Given the description of an element on the screen output the (x, y) to click on. 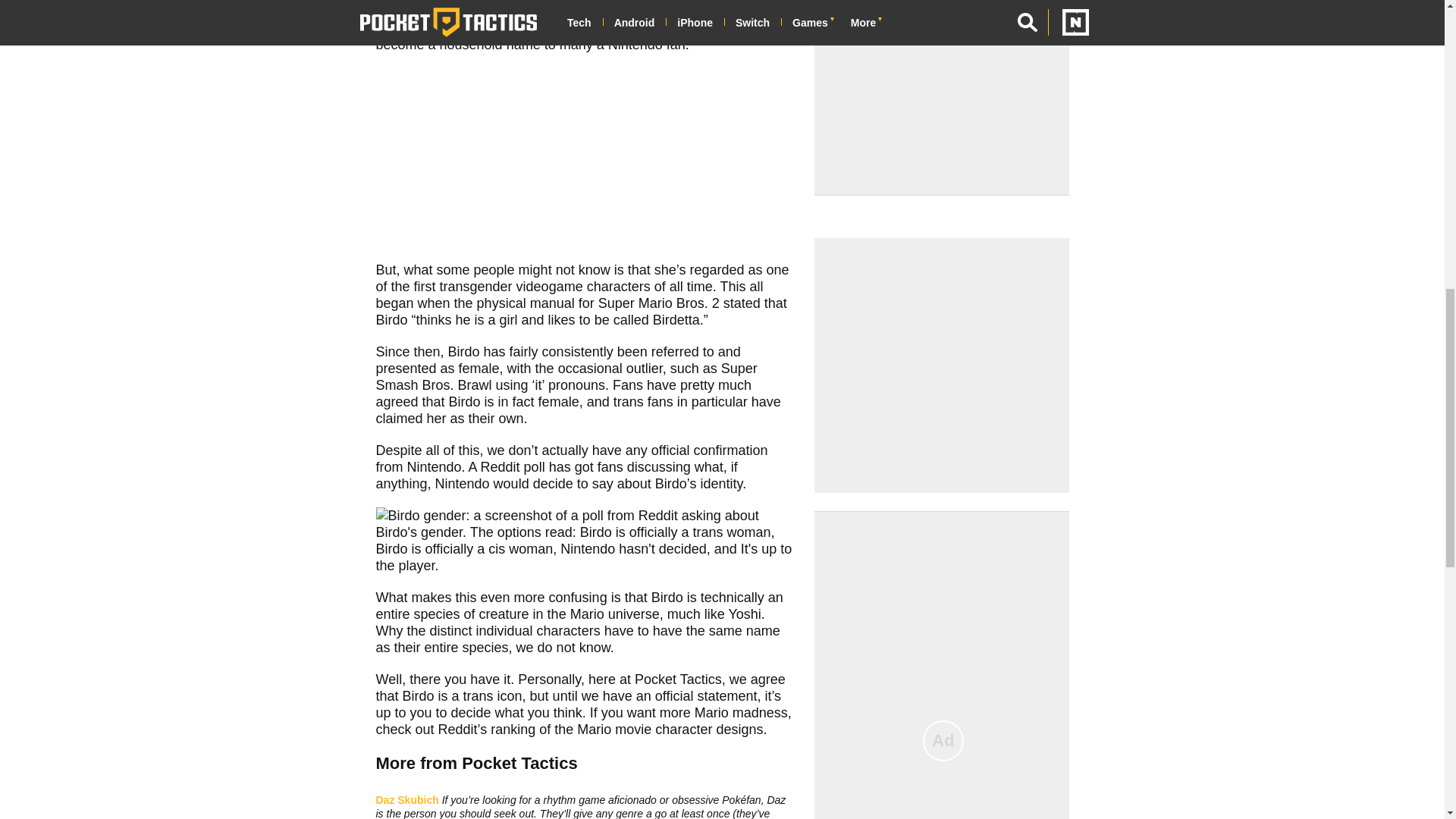
Daz Skubich (407, 799)
Reddit poll (512, 467)
Mario movie character designs (669, 729)
birdo gender poll (584, 540)
